Given the description of an element on the screen output the (x, y) to click on. 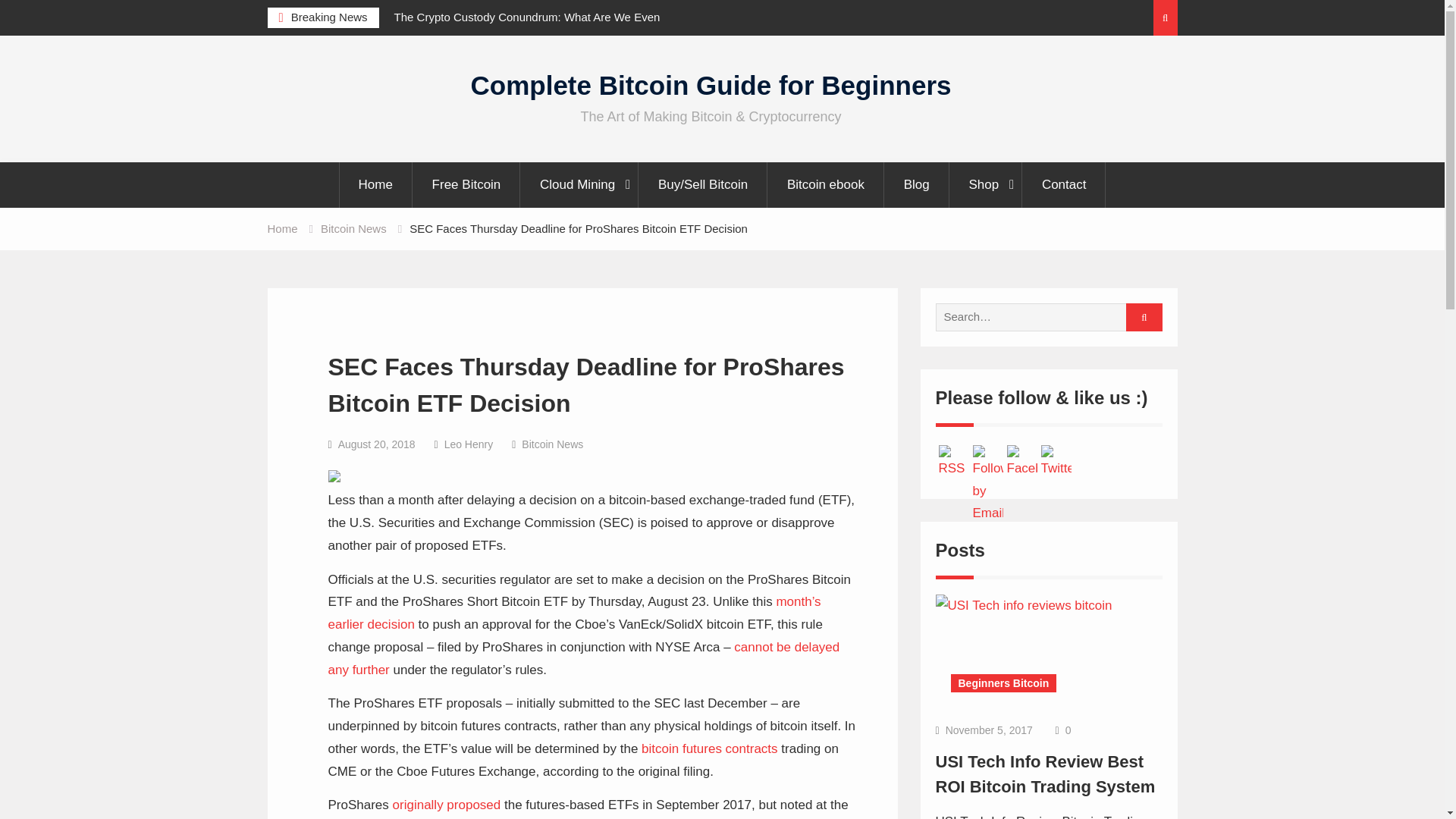
Free Bitcoin (467, 185)
Cloud Mining (580, 185)
Home (281, 227)
Bitcoin News (552, 444)
August 20, 2018 (375, 444)
Leo Henry (468, 444)
Blog (917, 185)
Bitcoin ebook (825, 185)
Complete Bitcoin Guide for Beginners (711, 84)
